Given the description of an element on the screen output the (x, y) to click on. 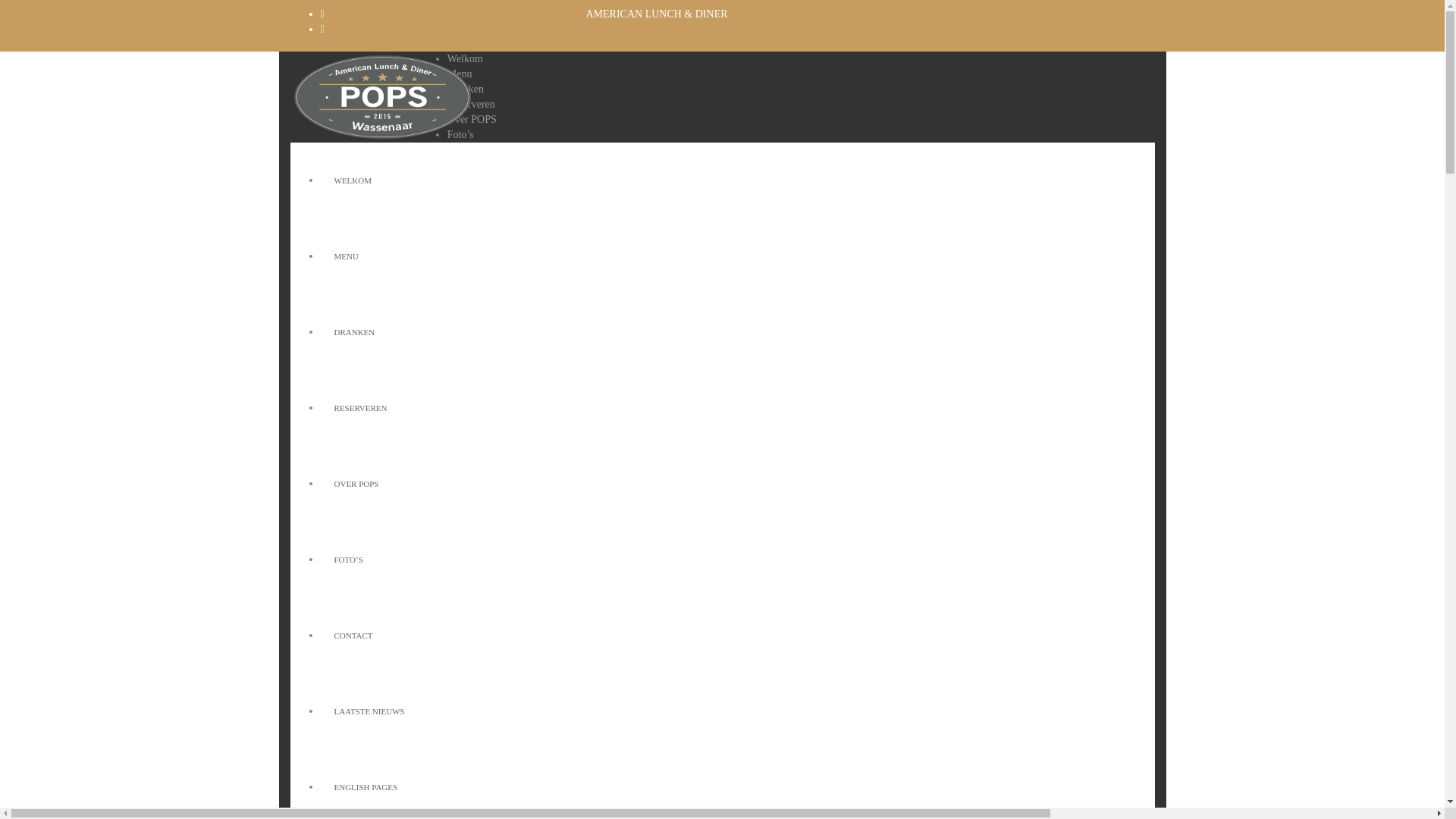
WELKOM (352, 180)
RESERVEREN (360, 407)
OVER POPS (355, 483)
LAATSTE NIEUWS (368, 710)
ENGLISH PAGES (365, 786)
Over POPS (471, 119)
Welkom (464, 58)
DRANKEN (354, 331)
CONTACT (352, 634)
Menu (458, 73)
Reserveren (470, 103)
MENU (345, 256)
Dranken (464, 89)
